Given the description of an element on the screen output the (x, y) to click on. 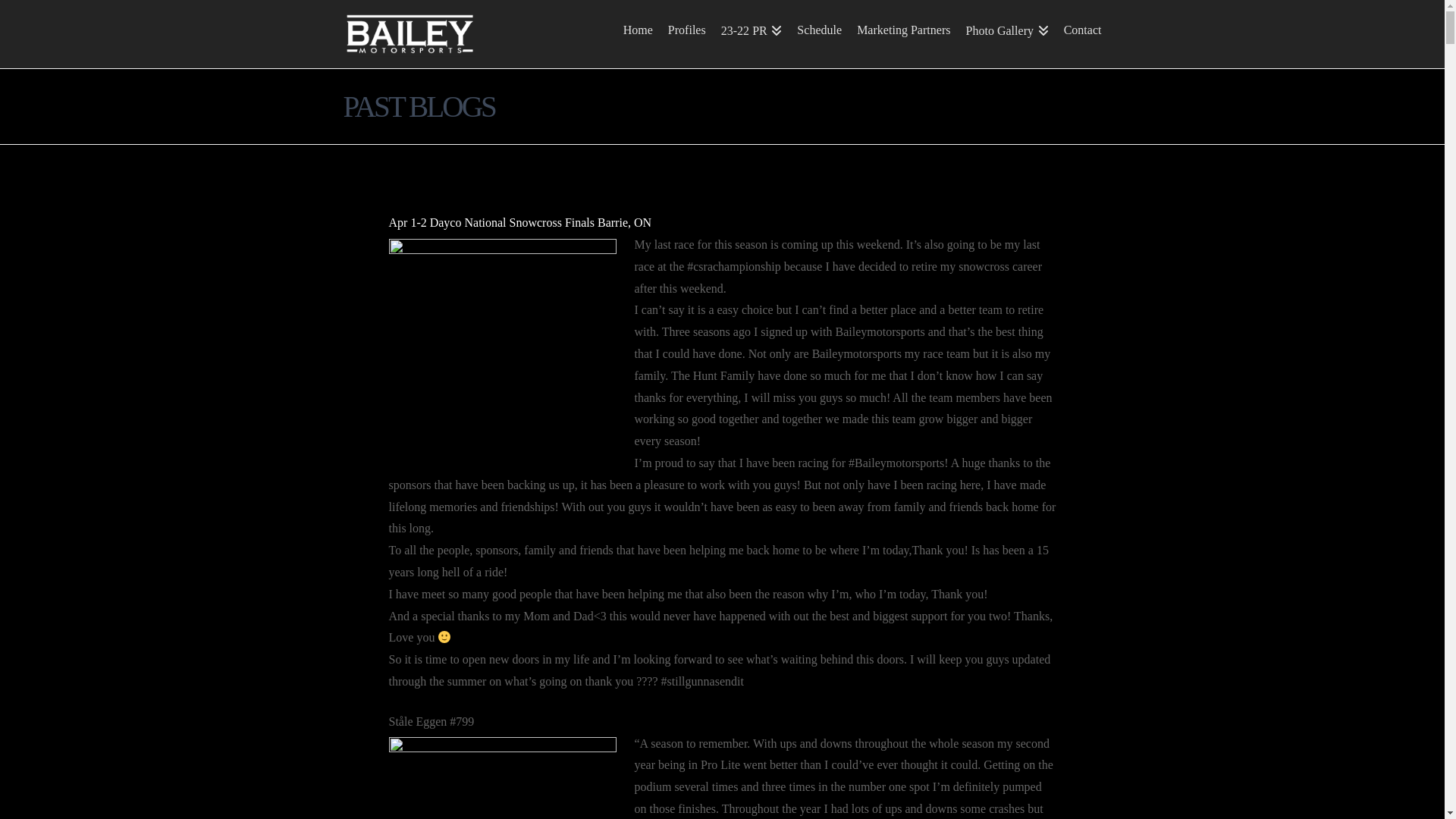
Contact Element type: text (1078, 34)
Home Element type: text (637, 34)
Photo Gallery Element type: text (1006, 34)
23-22 PR Element type: text (751, 34)
Schedule Element type: text (819, 34)
Marketing Partners Element type: text (903, 34)
Profiles Element type: text (686, 34)
